Given the description of an element on the screen output the (x, y) to click on. 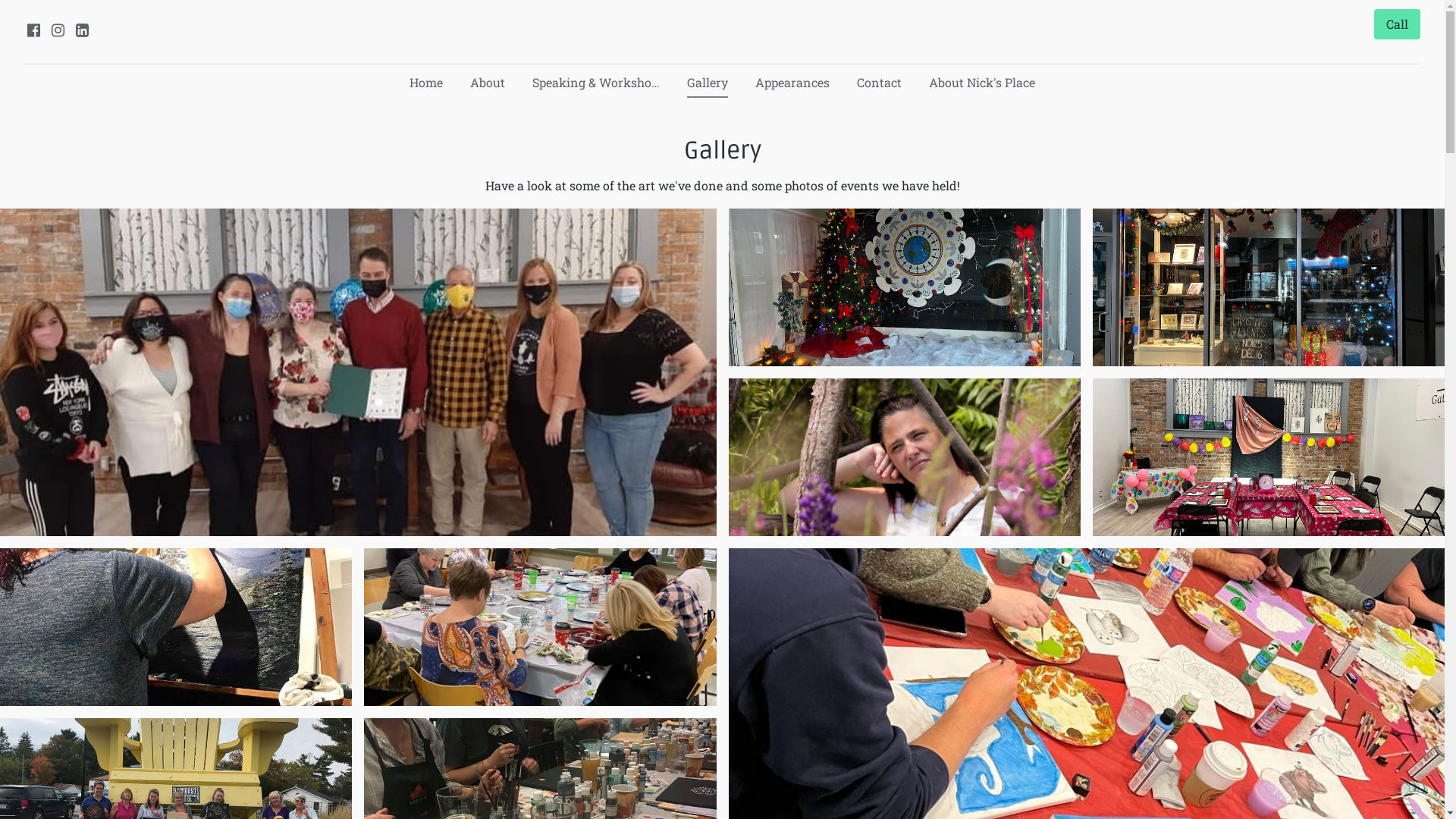
Appearances Element type: text (792, 82)
About Nick's Place Element type: text (981, 82)
Gallery Element type: text (707, 82)
Contact Element type: text (878, 82)
Speaking & Workshops Element type: text (595, 82)
Call Element type: text (1397, 24)
About Element type: text (487, 82)
Home Element type: text (426, 82)
